Given the description of an element on the screen output the (x, y) to click on. 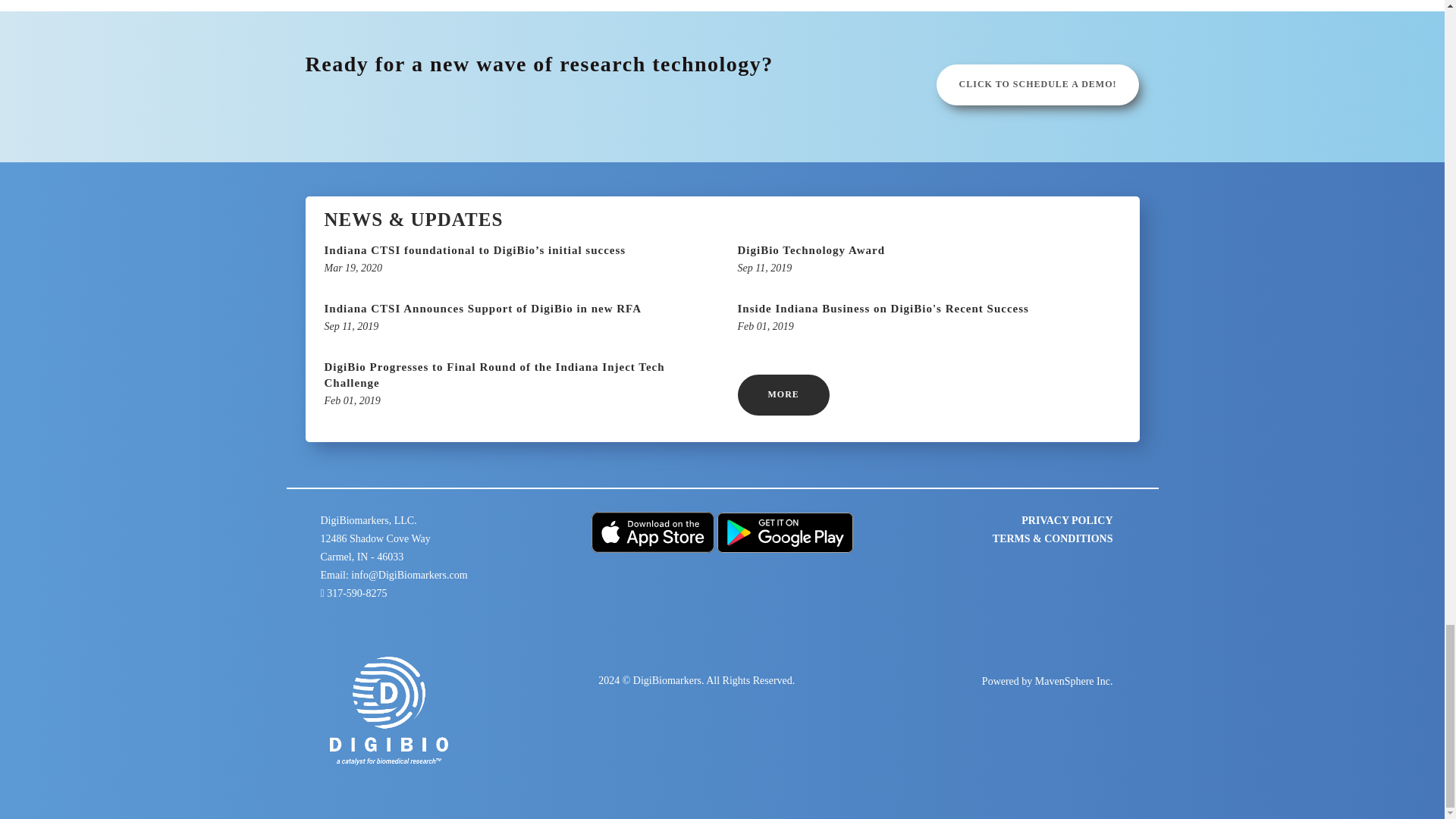
MORE (782, 394)
CLICK TO SCHEDULE A DEMO! (1038, 84)
PRIVACY POLICY (927, 260)
